Given the description of an element on the screen output the (x, y) to click on. 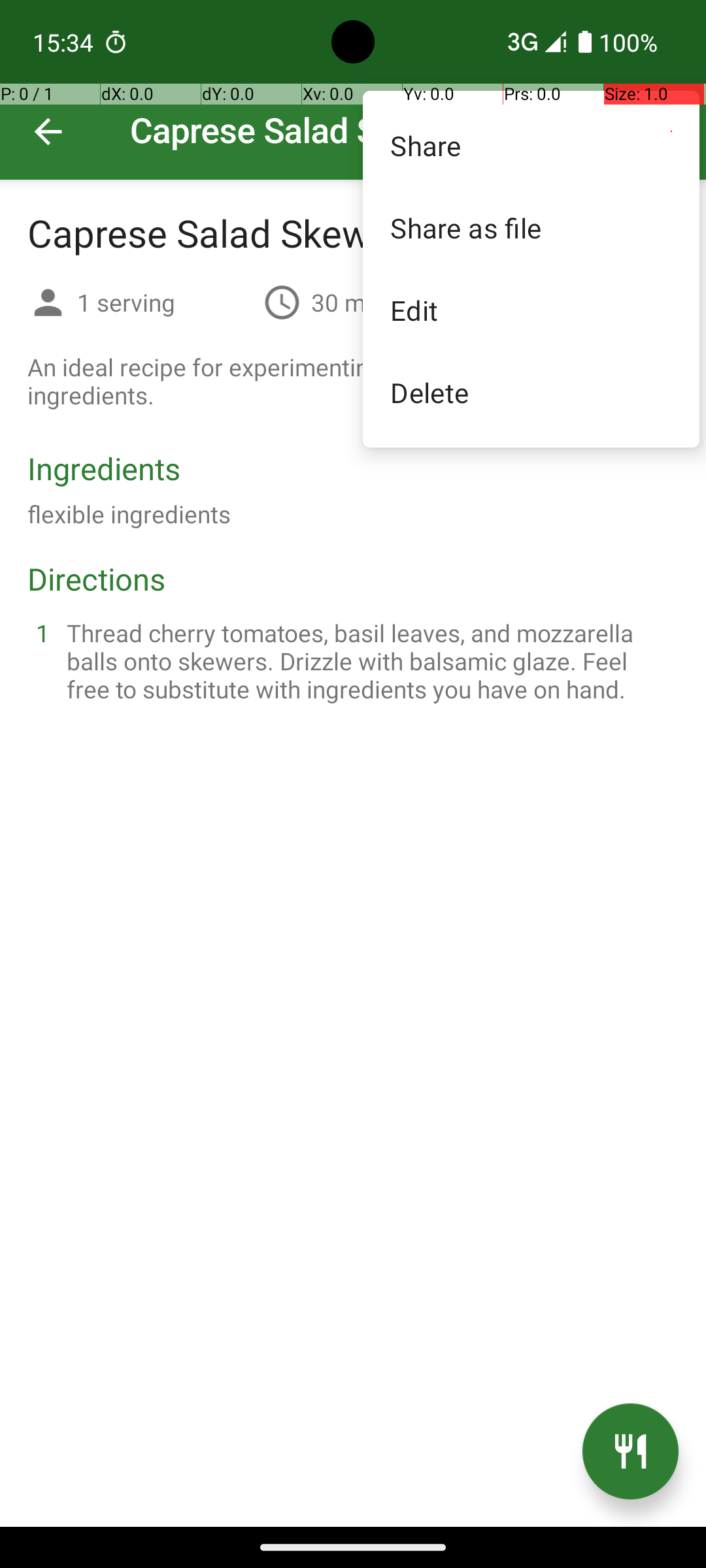
Share as file Element type: android.widget.TextView (531, 227)
